Given the description of an element on the screen output the (x, y) to click on. 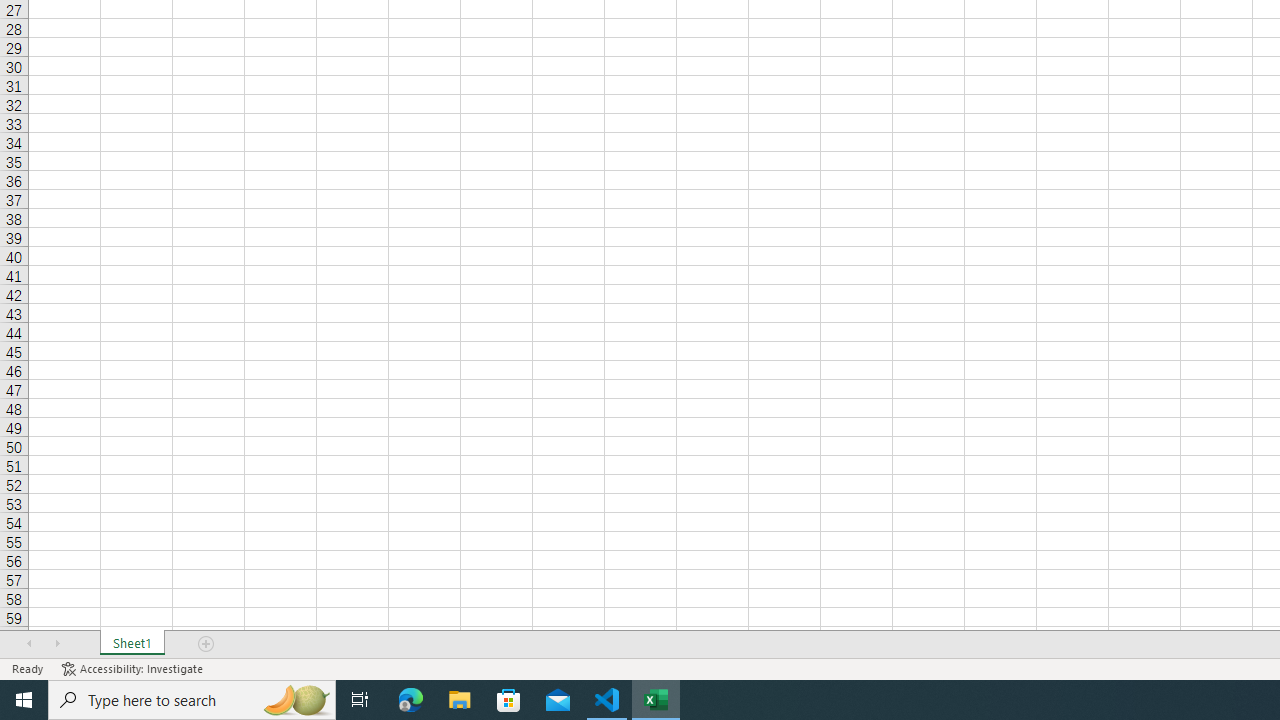
Accessibility Checker Accessibility: Investigate (134, 668)
